Given the description of an element on the screen output the (x, y) to click on. 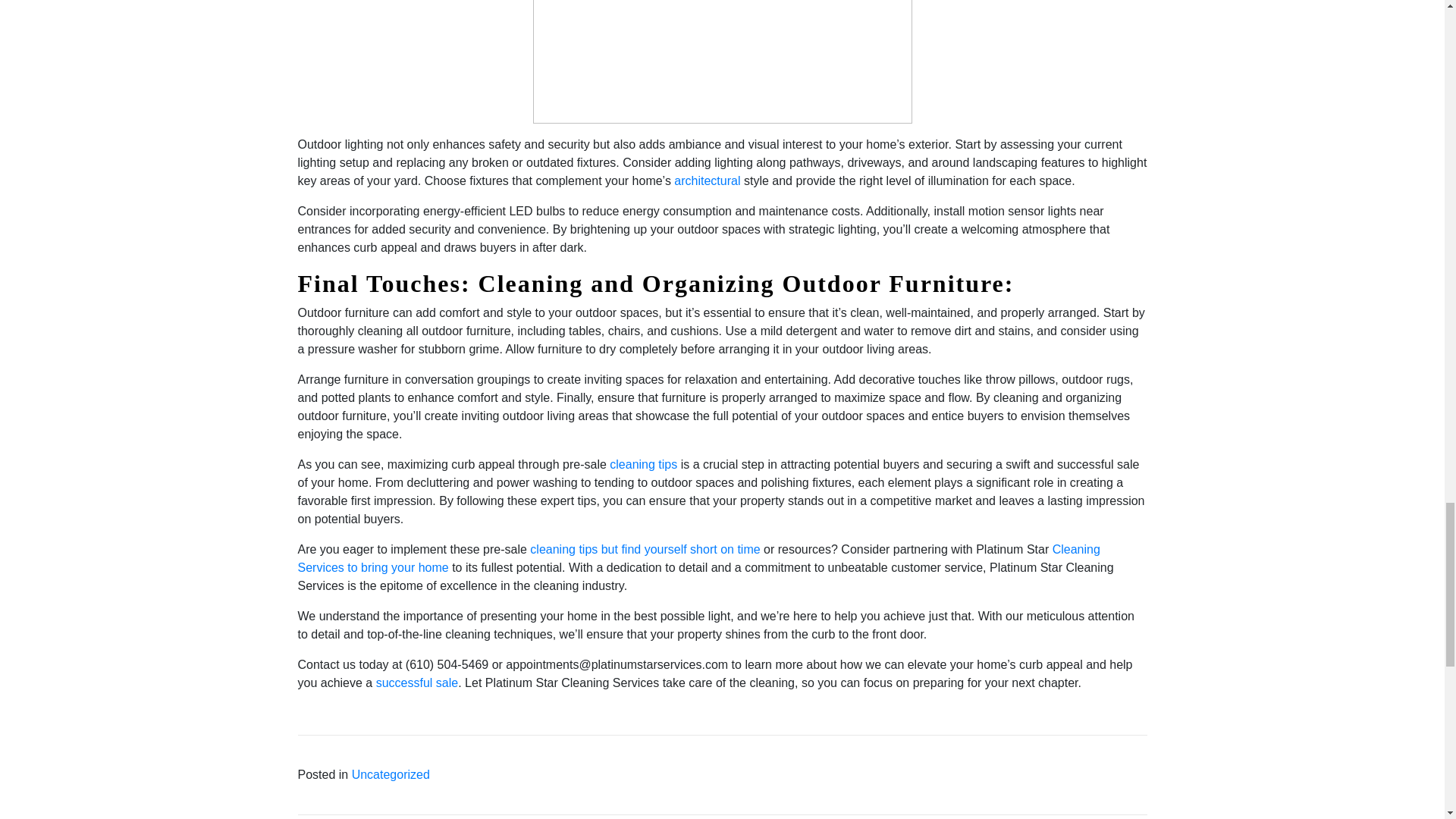
Cleaning Services to bring your home (698, 558)
cleaning tips (643, 463)
Uncategorized (390, 774)
cleaning tips but find yourself short on time (644, 549)
successful sale (416, 682)
architectural (706, 180)
